Given the description of an element on the screen output the (x, y) to click on. 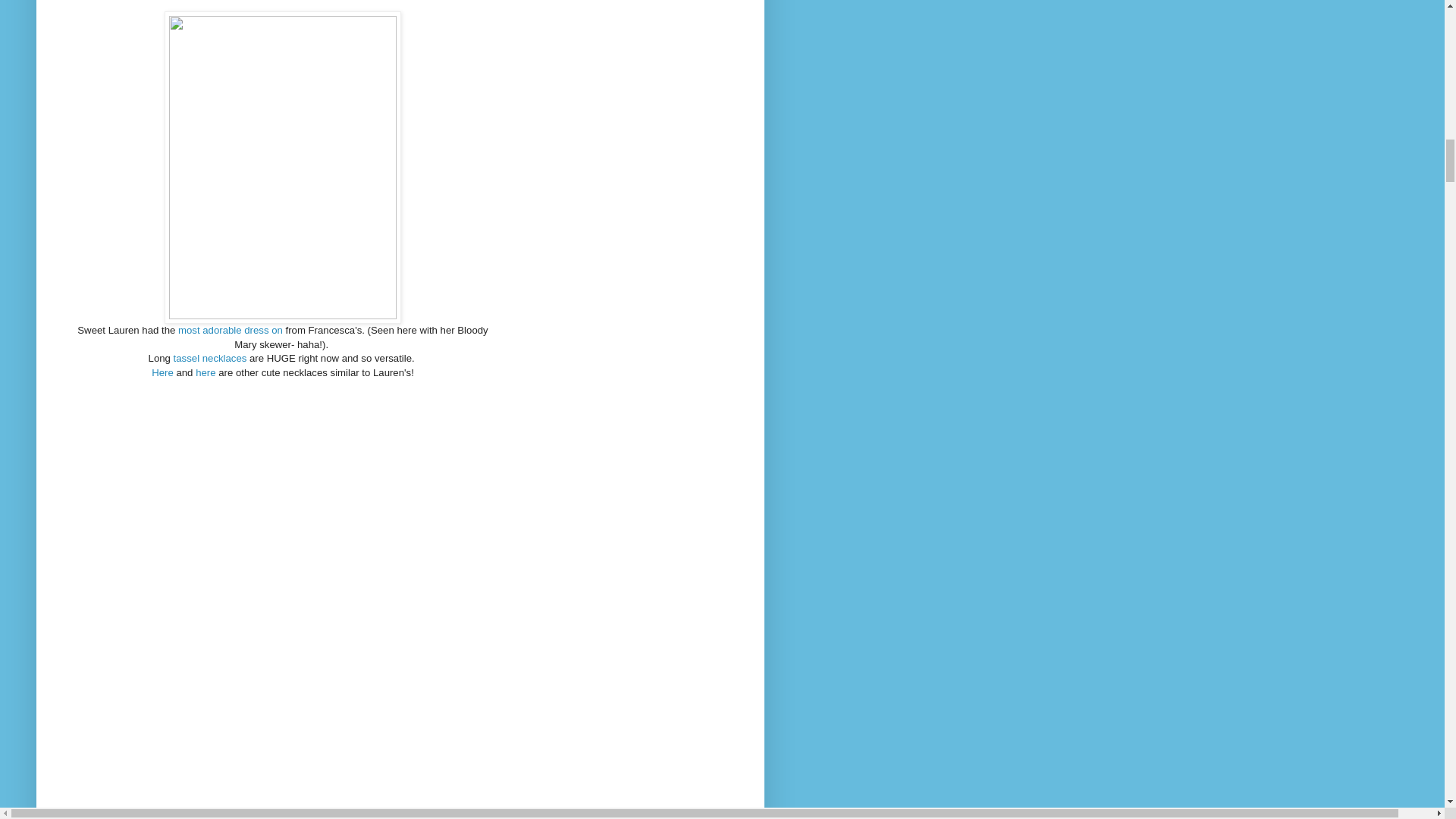
most adorable dress on (229, 329)
here (205, 372)
Here (162, 372)
tassel necklaces (210, 357)
